Given the description of an element on the screen output the (x, y) to click on. 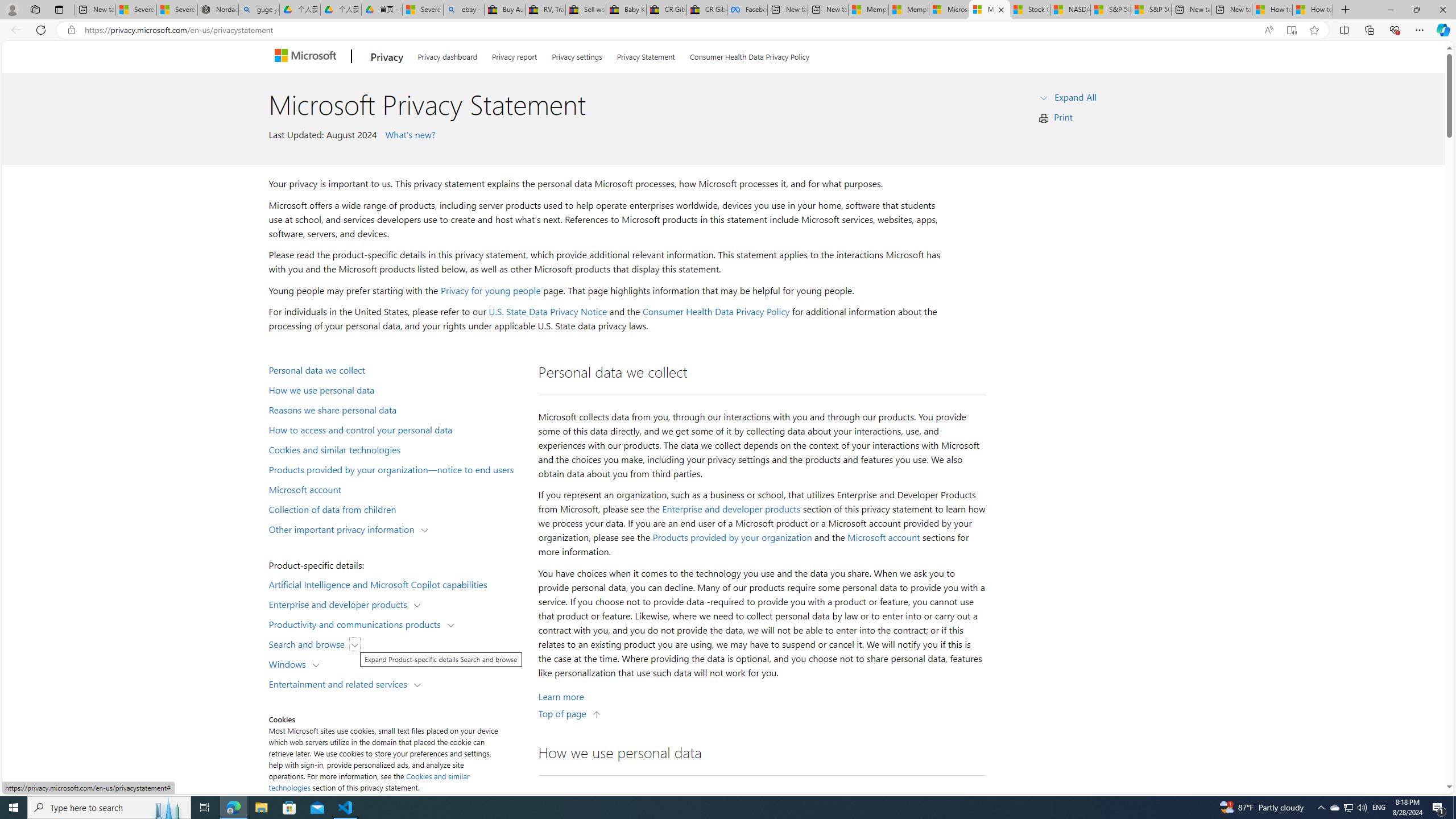
Privacy Statement (645, 54)
Facebook (746, 9)
Cookies and similar technologies (395, 449)
Search and browse (308, 643)
Buy Auto Parts & Accessories | eBay (504, 9)
U.S. State Data Privacy Notice (548, 311)
guge yunpan - Search (258, 9)
